Given the description of an element on the screen output the (x, y) to click on. 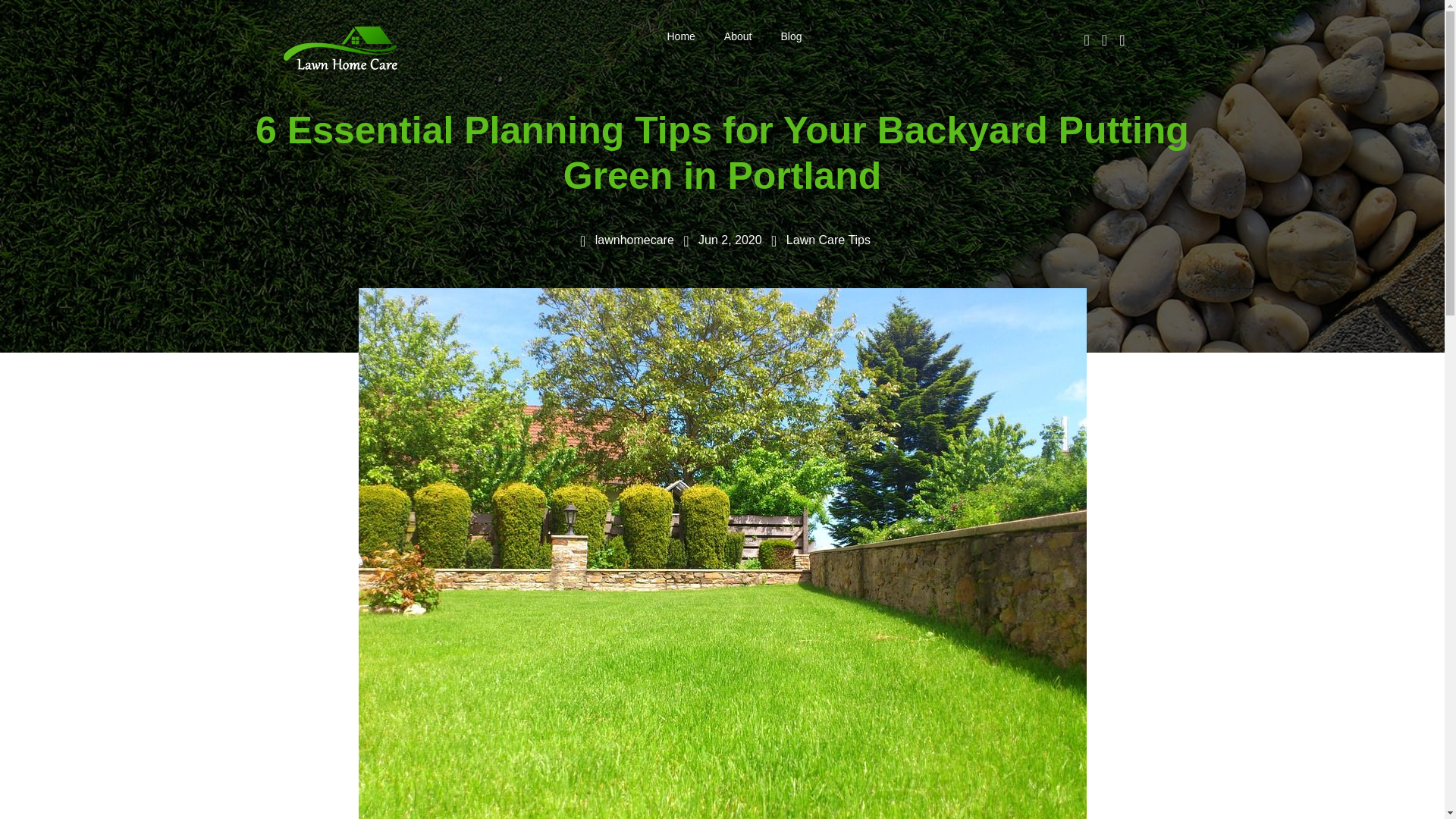
Lawn Care Tips (828, 239)
